Given the description of an element on the screen output the (x, y) to click on. 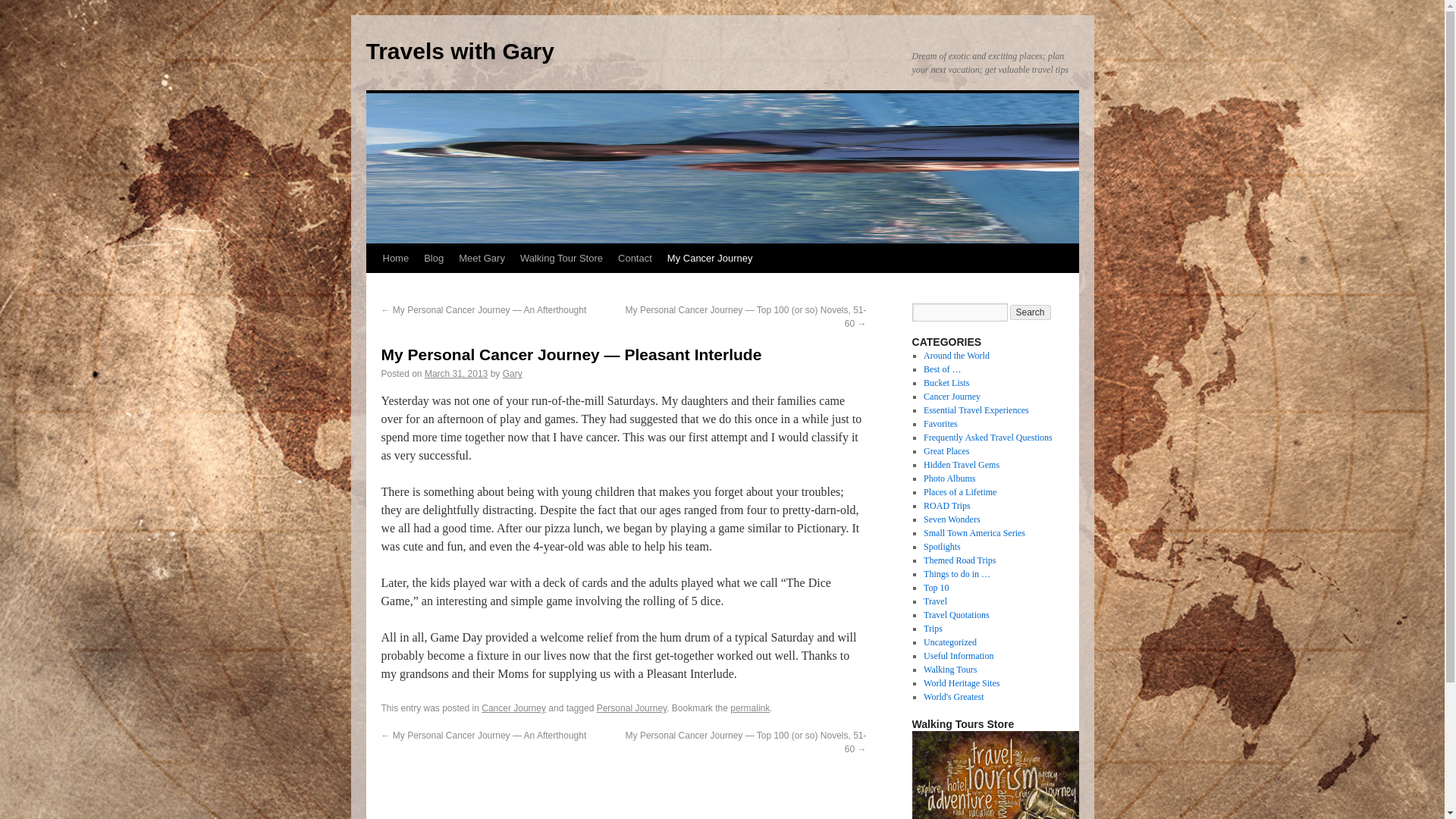
ROAD Trips (947, 505)
Around the World (956, 355)
Home (395, 258)
Contact (634, 258)
Bucket Lists (946, 382)
Personal Journey (631, 707)
Photo Albums (949, 478)
Travels with Gary (459, 50)
Search (1030, 312)
Frequently Asked Travel Questions (987, 437)
